Given the description of an element on the screen output the (x, y) to click on. 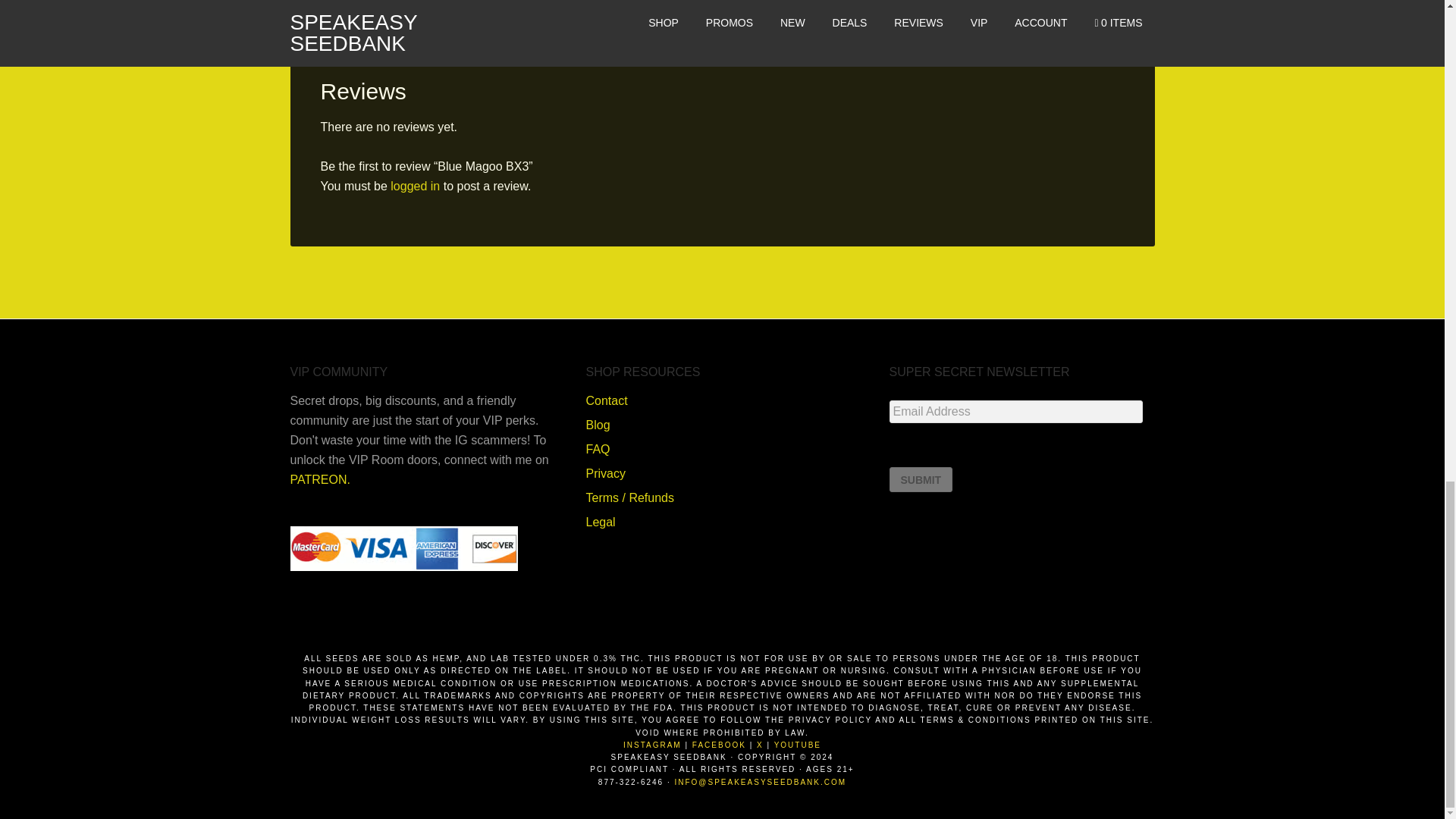
Contact (606, 400)
logged in (414, 185)
Submit (920, 479)
FAQ (597, 449)
YOUTUBE (797, 745)
Privacy (604, 472)
PATREON. (319, 479)
Legal (599, 521)
FACEBOOK (719, 745)
Submit (920, 479)
